Given the description of an element on the screen output the (x, y) to click on. 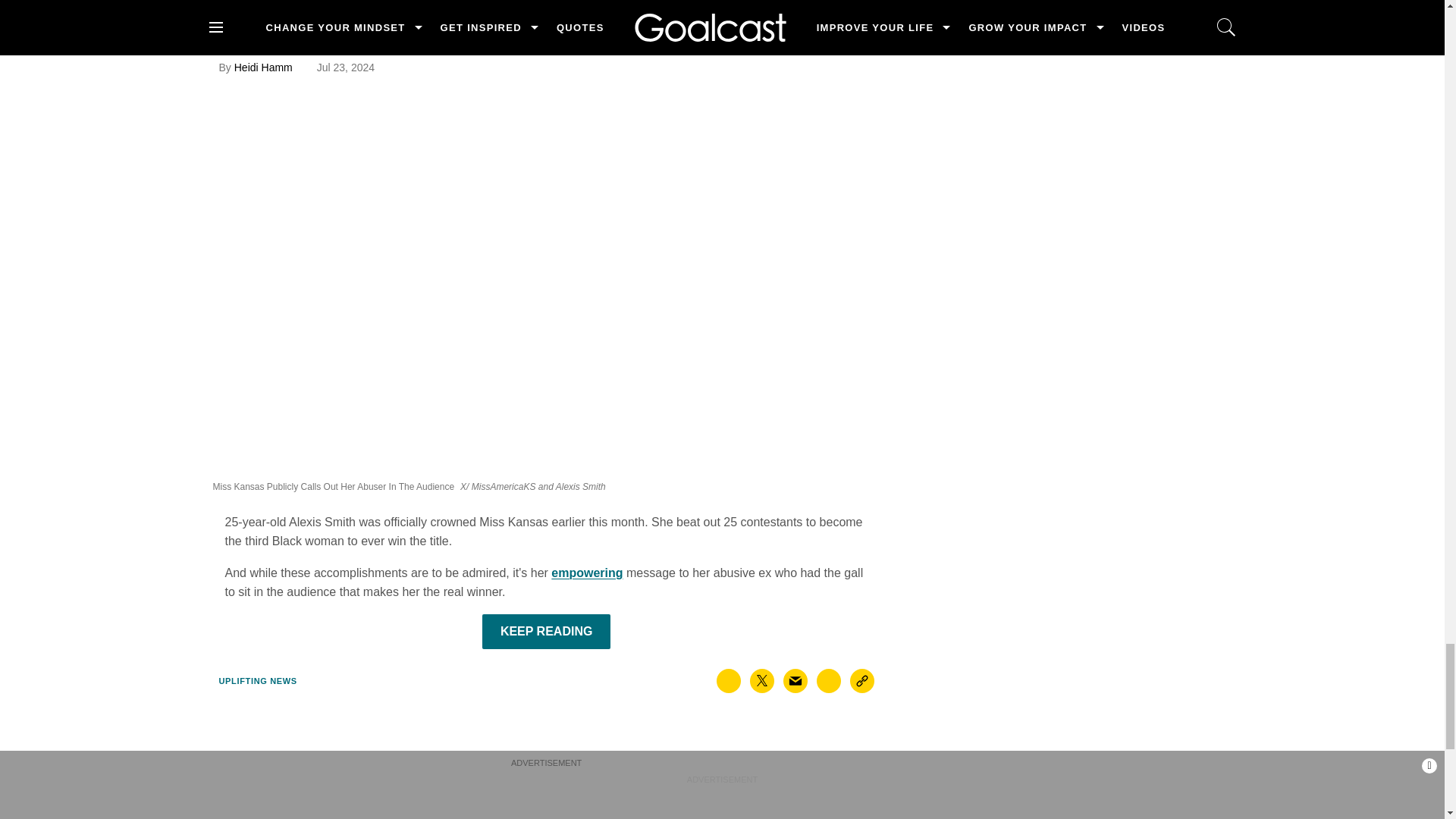
Copy this link to clipboard (862, 680)
